Given the description of an element on the screen output the (x, y) to click on. 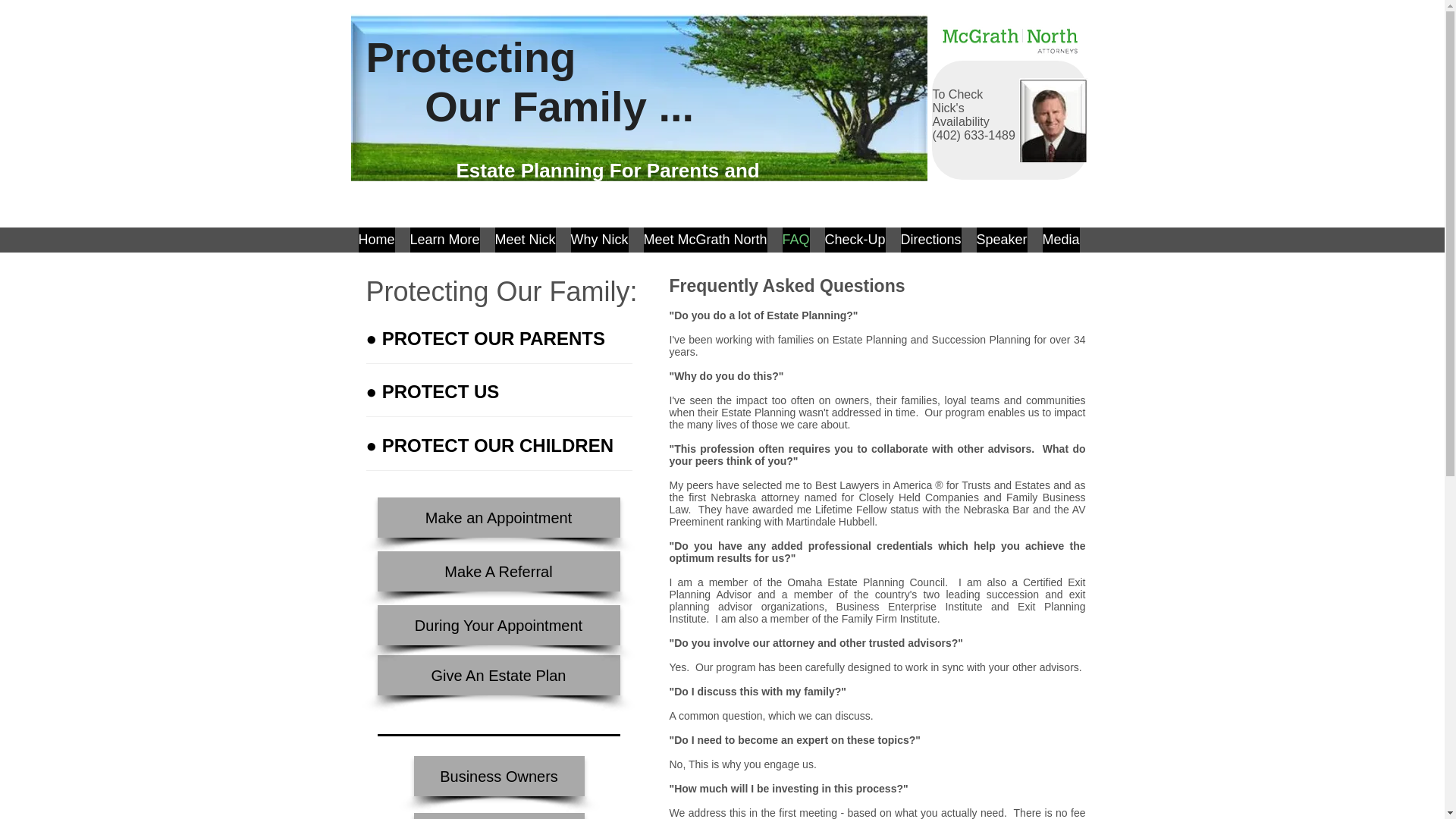
Media (1060, 239)
Home (376, 239)
Give An Estate Plan (498, 675)
Learn More (444, 239)
Business Owners (499, 775)
Make an Appointment (498, 517)
Meet Nick (524, 239)
MNMK logo.png (1010, 38)
Meet McGrath North (705, 239)
Speaker (1001, 239)
Why Nick (598, 239)
Check-Up (855, 239)
During Your Appointment (498, 625)
Trusted Advisors (499, 816)
Directions (930, 239)
